Given the description of an element on the screen output the (x, y) to click on. 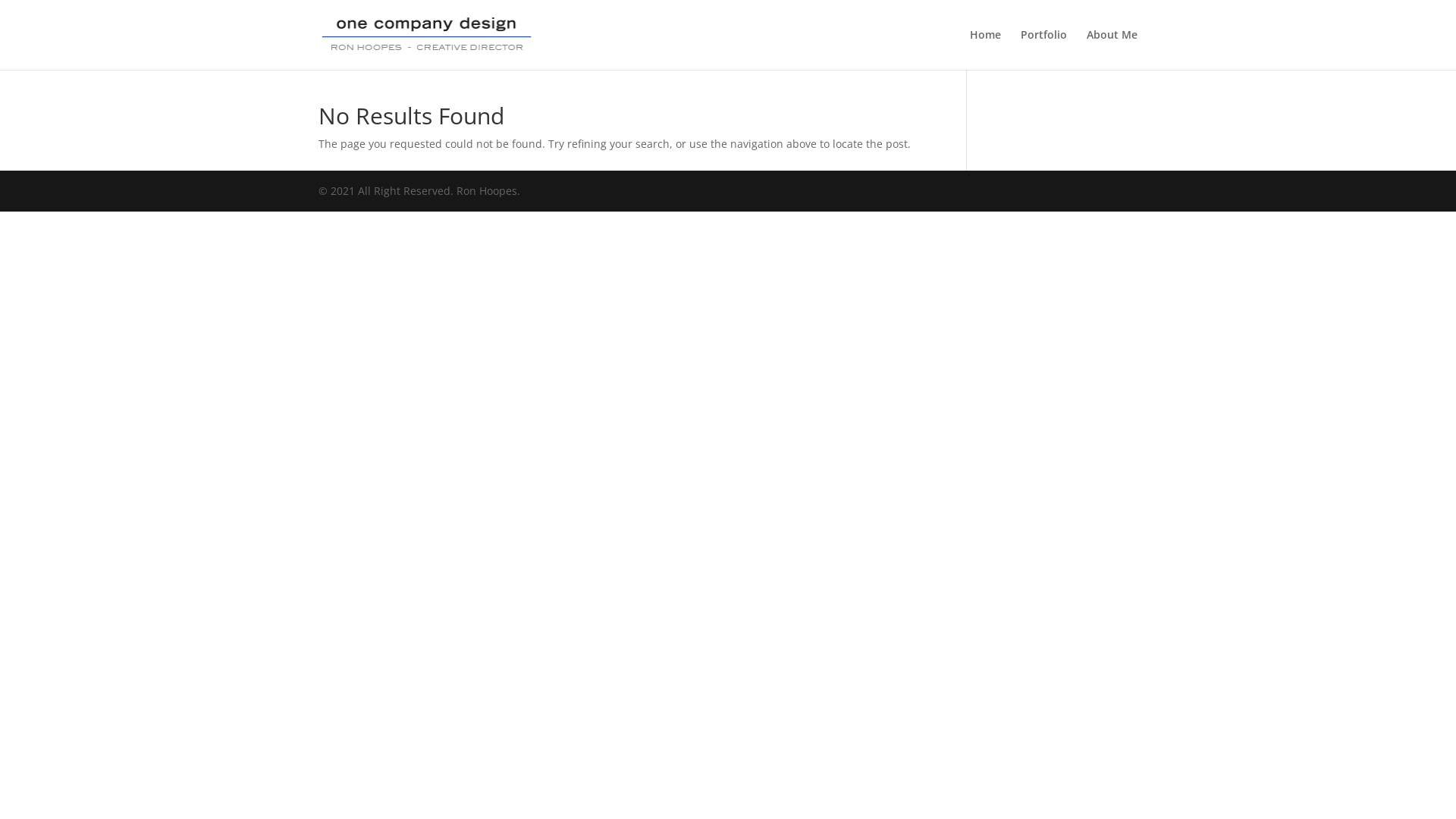
Portfolio Element type: text (1043, 49)
About Me Element type: text (1111, 49)
Home Element type: text (985, 49)
